Given the description of an element on the screen output the (x, y) to click on. 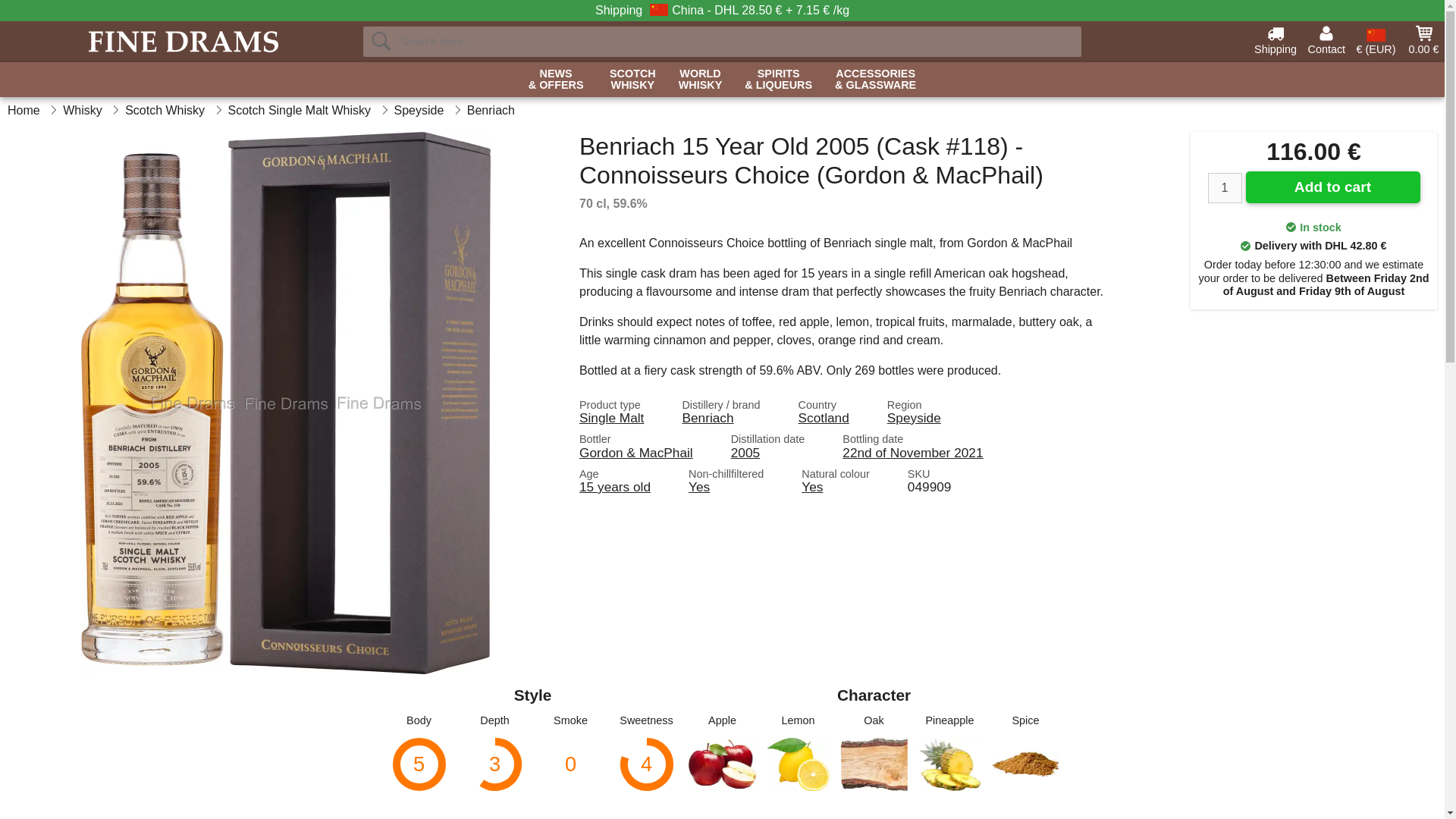
Shipping (1275, 39)
1 (1224, 187)
Contact (632, 79)
